Given the description of an element on the screen output the (x, y) to click on. 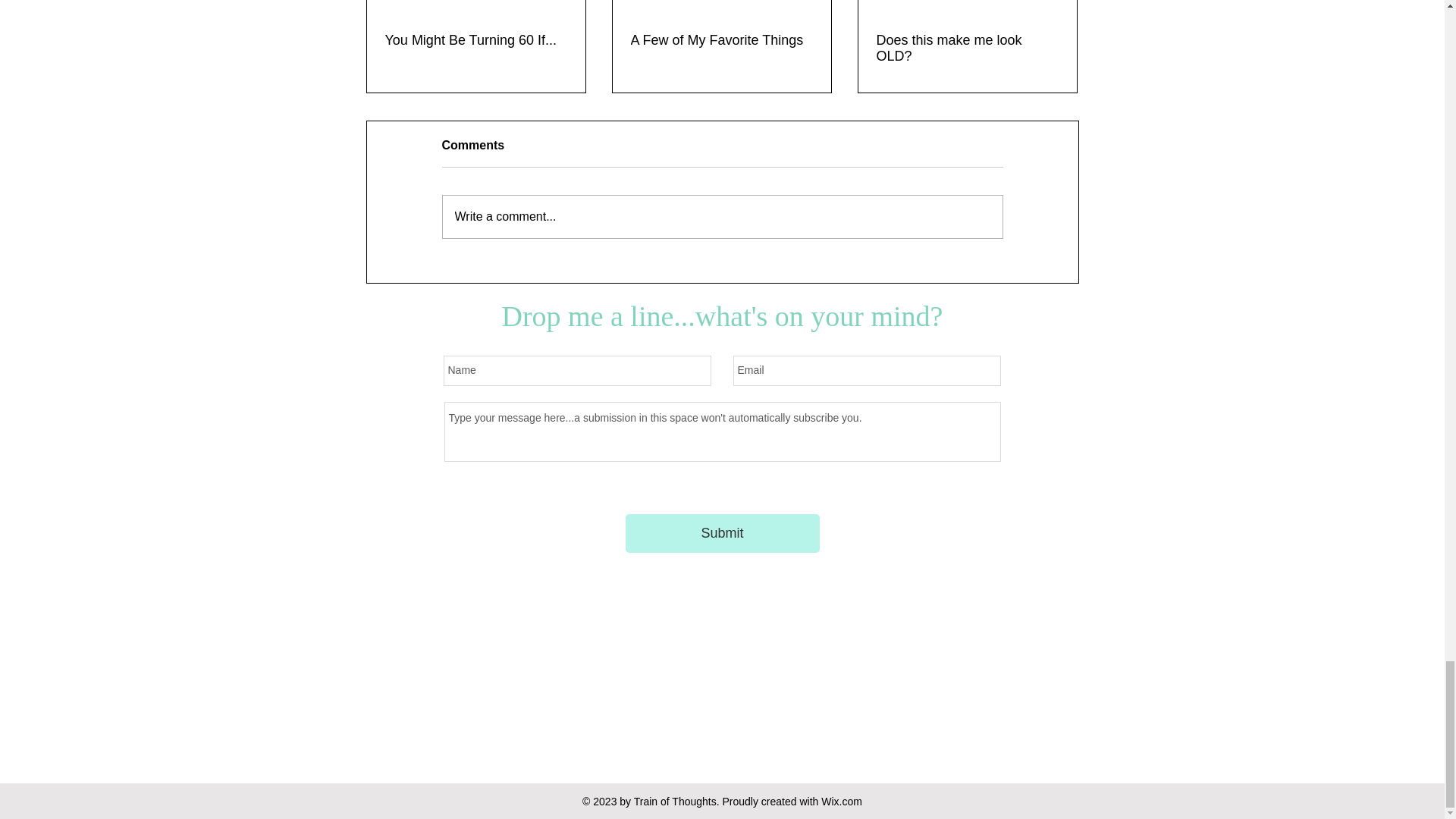
A Few of My Favorite Things (721, 40)
You Might Be Turning 60 If... (476, 40)
Submit (721, 533)
Wix.com (841, 801)
Write a comment... (722, 216)
Does this make me look OLD? (967, 48)
